Given the description of an element on the screen output the (x, y) to click on. 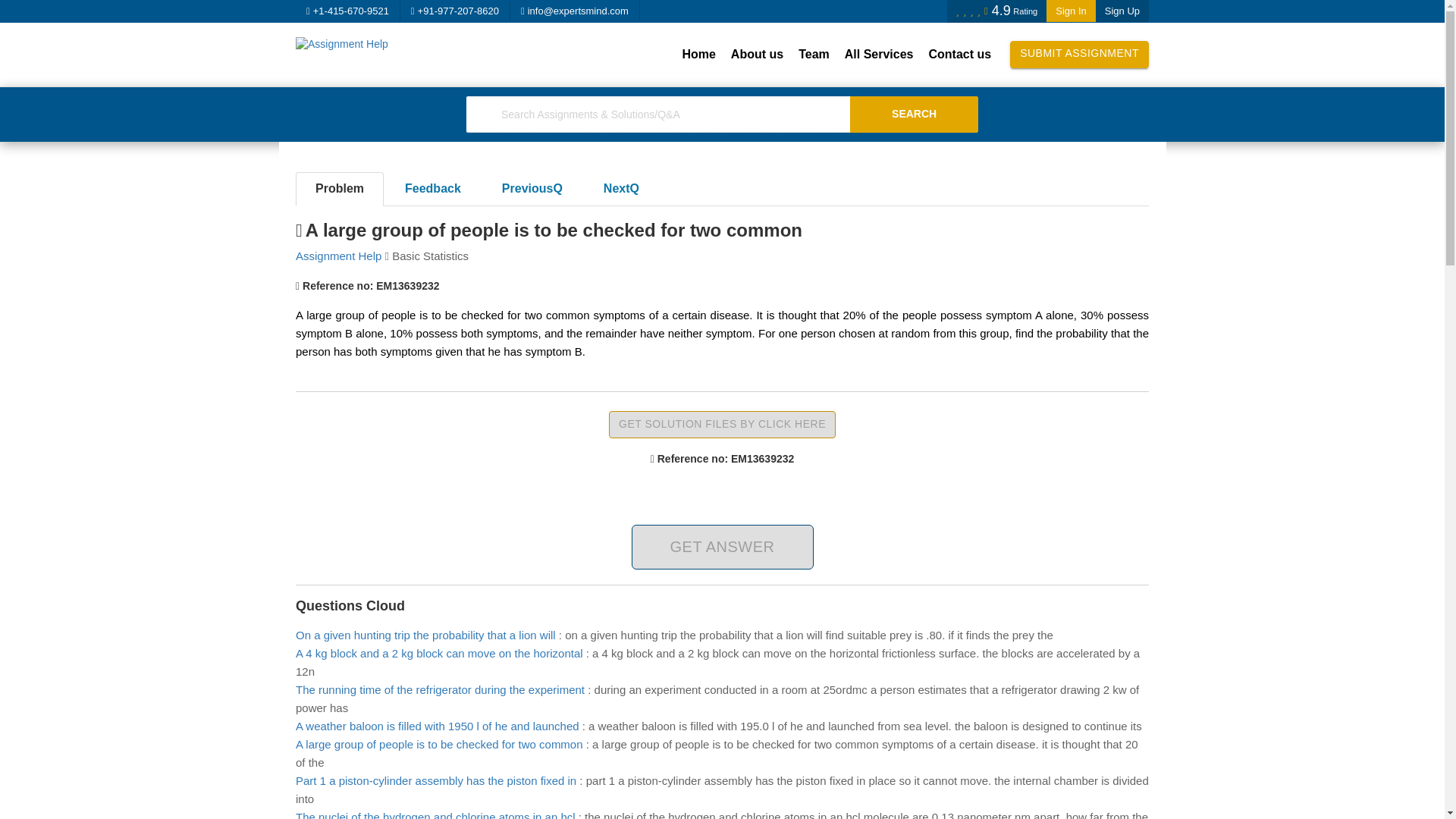
Sign In (1070, 11)
Contact us (959, 54)
Get Solution Files by Click here (721, 424)
PreviousQ (531, 188)
All Services (879, 54)
About us (756, 54)
SUBMIT ASSIGNMENT (1079, 53)
NextQ (621, 188)
Team (813, 54)
Search (914, 114)
Search (914, 114)
Feedback (432, 188)
Sign Up (1122, 11)
4.9 Rating (996, 11)
Problem (339, 188)
